Given the description of an element on the screen output the (x, y) to click on. 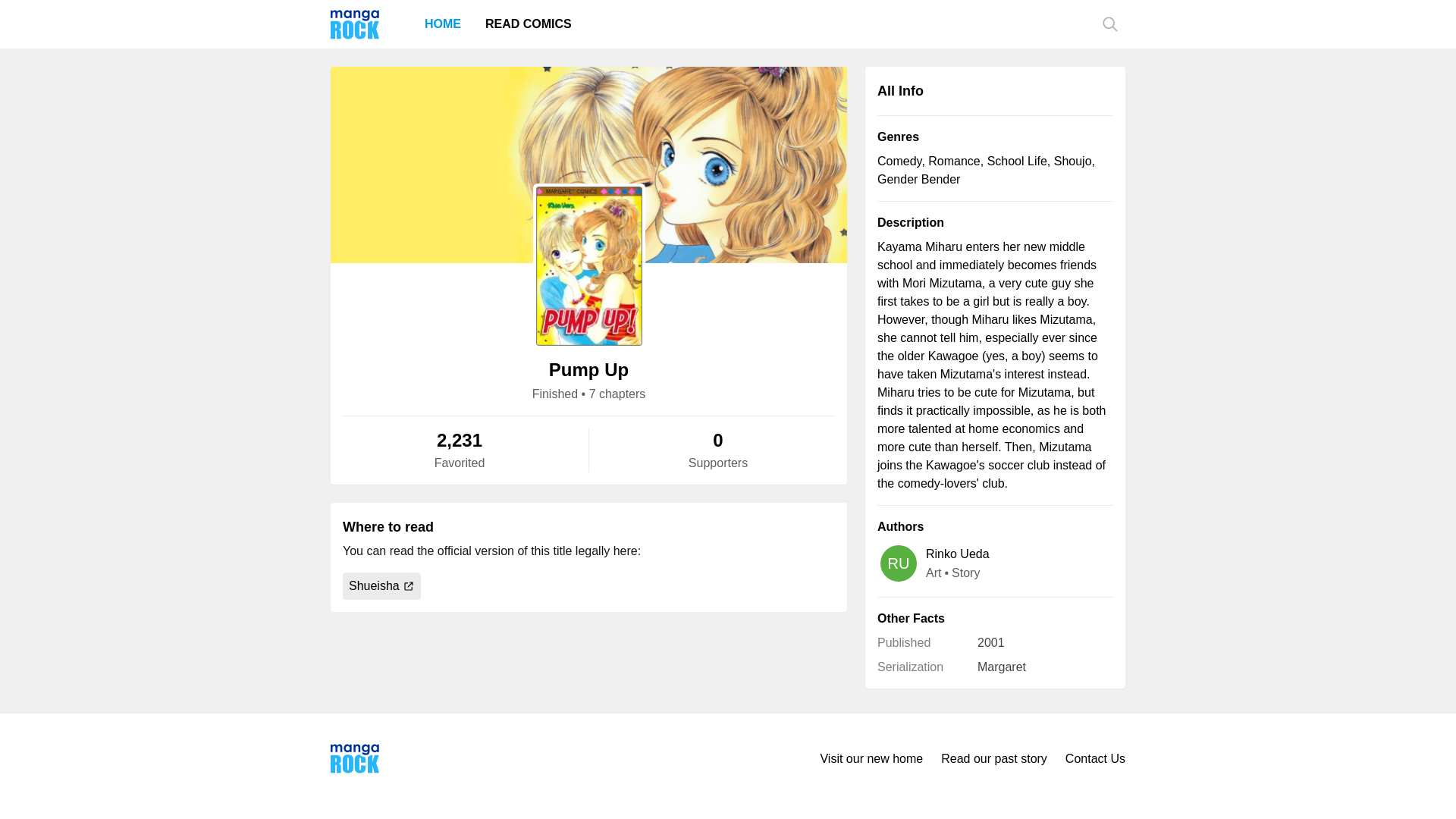
READ COMICS (528, 24)
Visit our new home (871, 758)
Rinko Ueda (958, 553)
Read our past story (993, 758)
Contact Us (1095, 758)
HOME (442, 24)
Shueisha (381, 585)
